Given the description of an element on the screen output the (x, y) to click on. 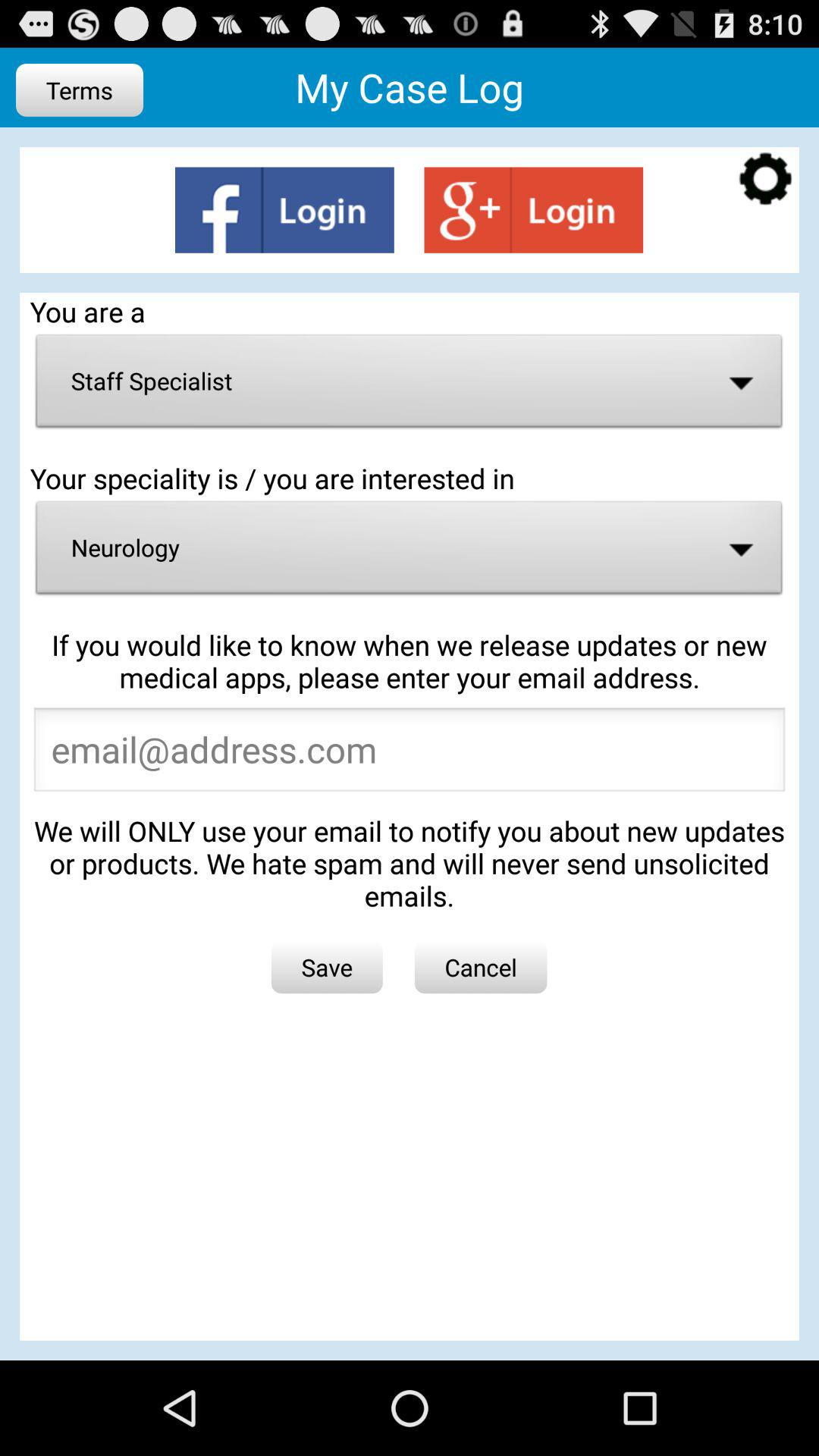
login with google plus (533, 210)
